Given the description of an element on the screen output the (x, y) to click on. 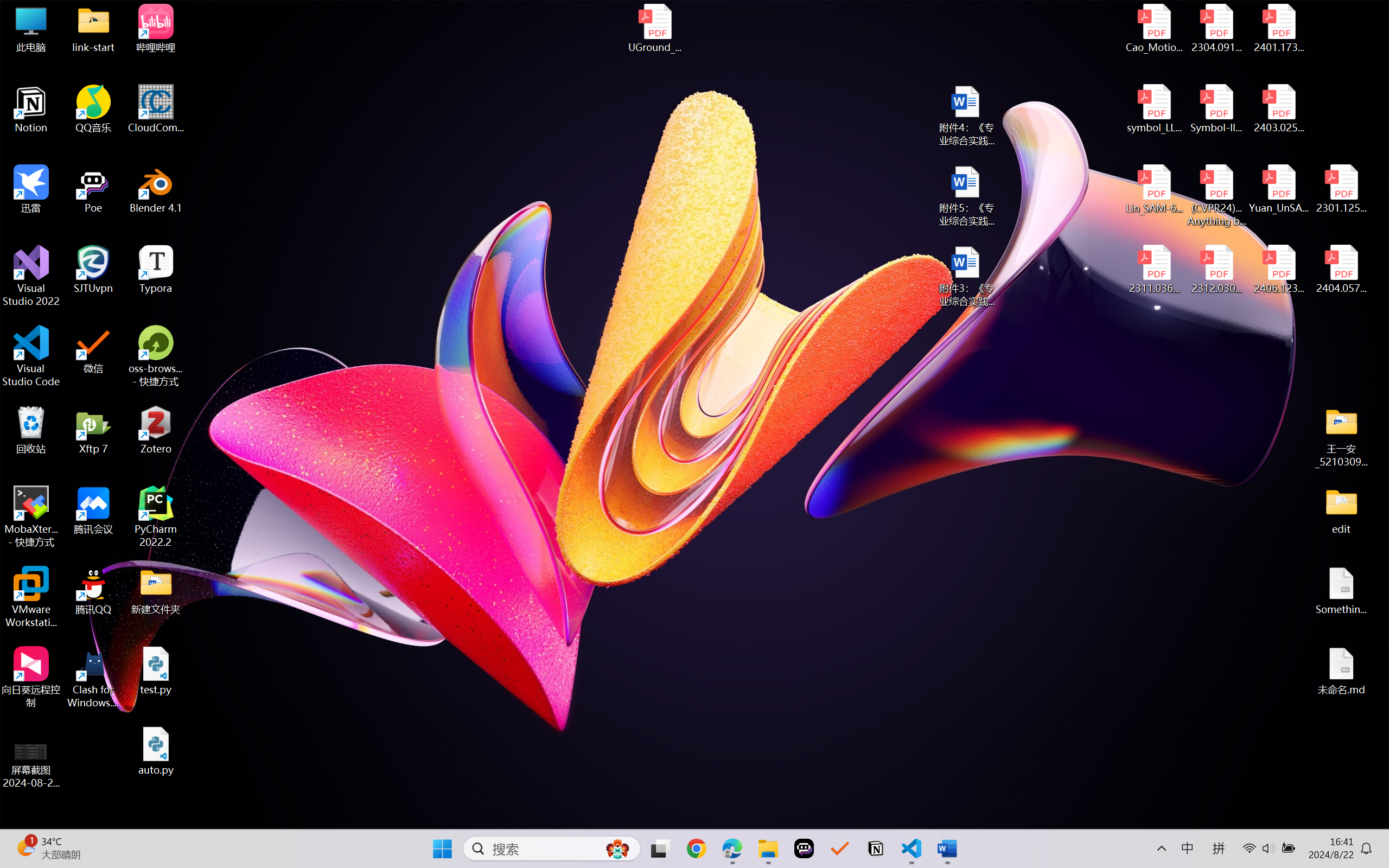
2403.02502v1.pdf (1278, 109)
Visual Studio 2022 (31, 276)
VMware Workstation Pro (31, 597)
edit (1340, 510)
Google Chrome (696, 848)
UGround_paper.pdf (654, 28)
